Given the description of an element on the screen output the (x, y) to click on. 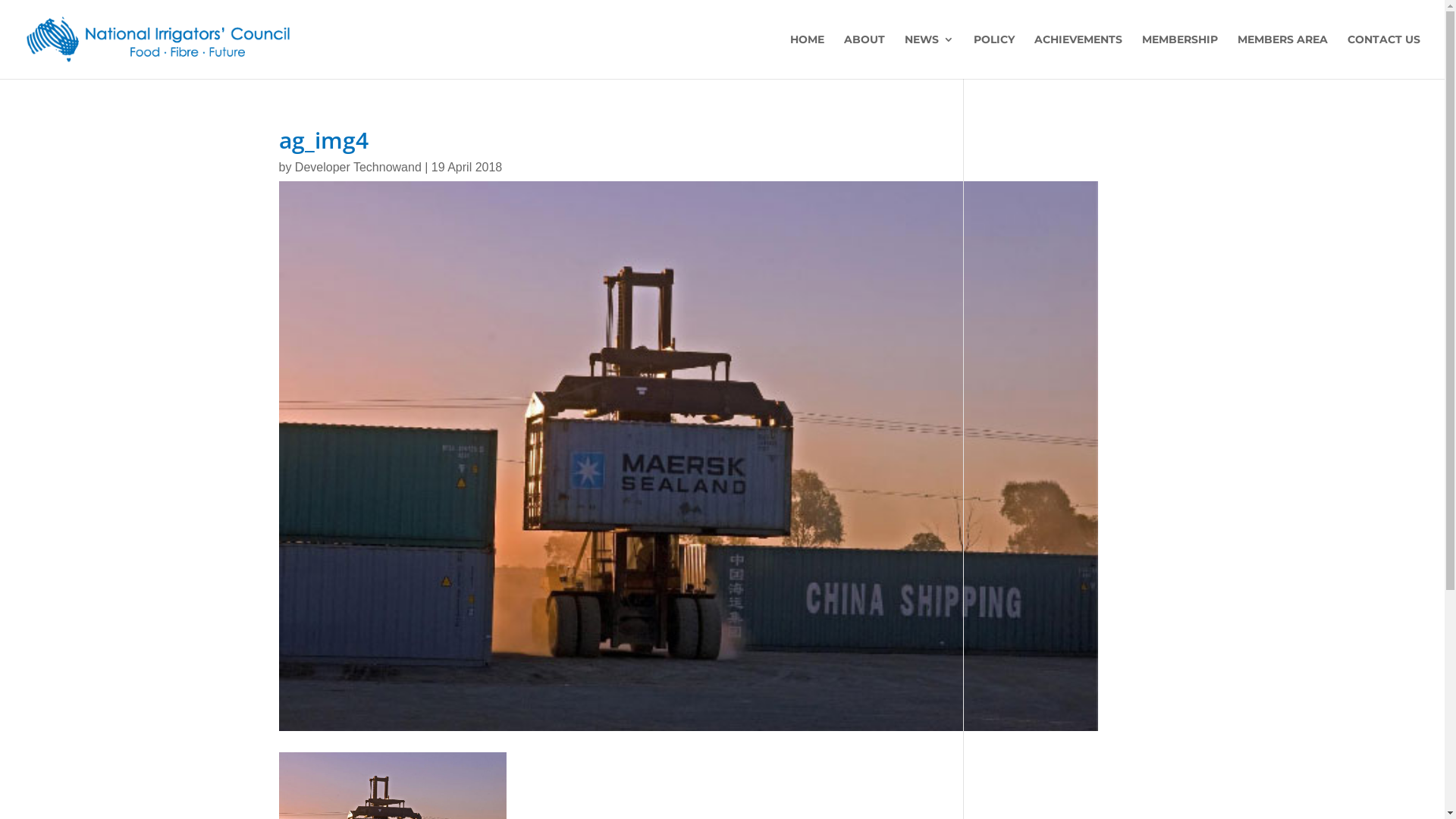
POLICY Element type: text (993, 56)
ACHIEVEMENTS Element type: text (1078, 56)
HOME Element type: text (807, 56)
MEMBERSHIP Element type: text (1179, 56)
ABOUT Element type: text (864, 56)
CONTACT US Element type: text (1383, 56)
MEMBERS AREA Element type: text (1282, 56)
NEWS Element type: text (928, 56)
